Given the description of an element on the screen output the (x, y) to click on. 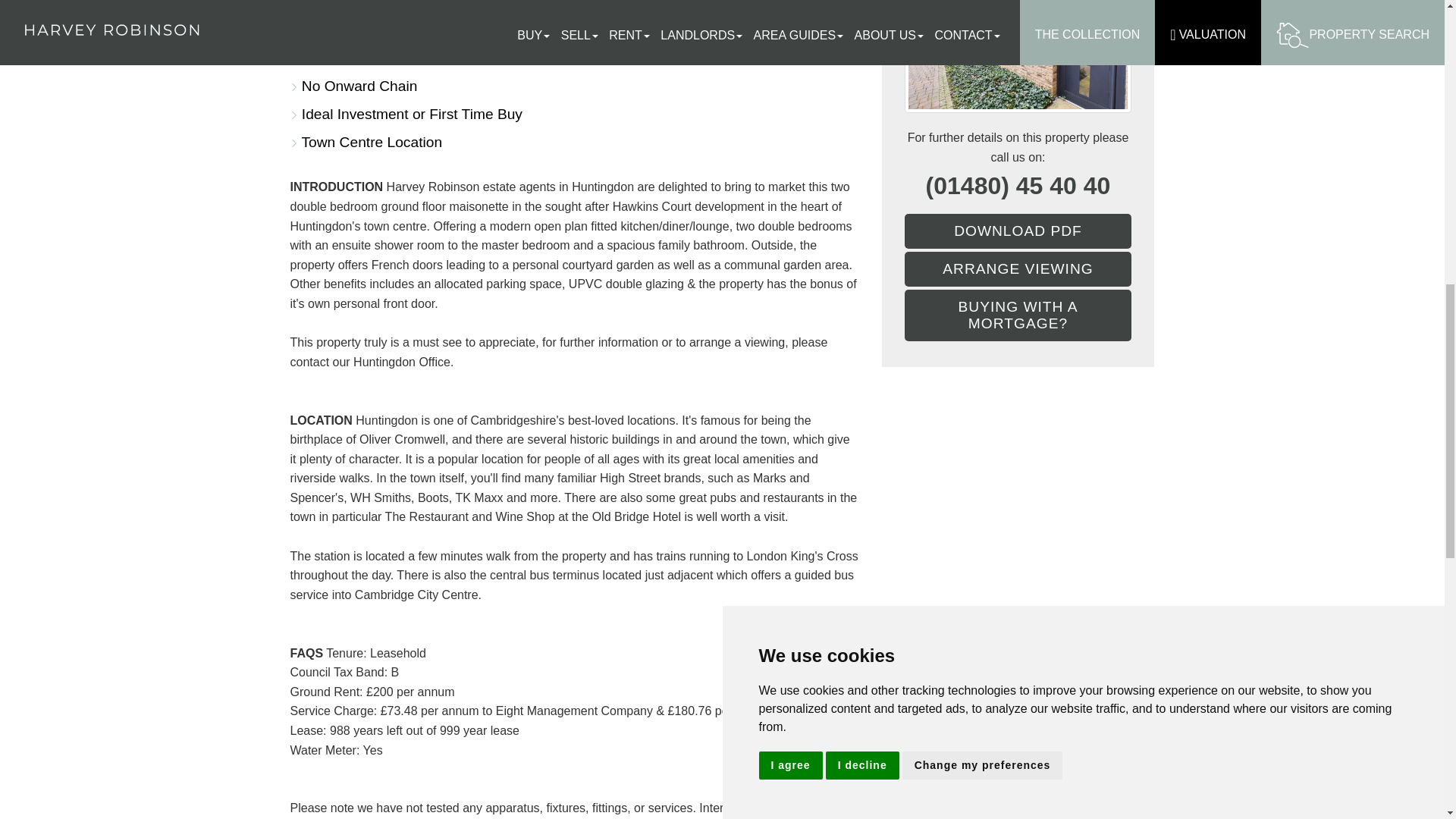
Hawkins Court, Huntingdon (1017, 56)
